Given the description of an element on the screen output the (x, y) to click on. 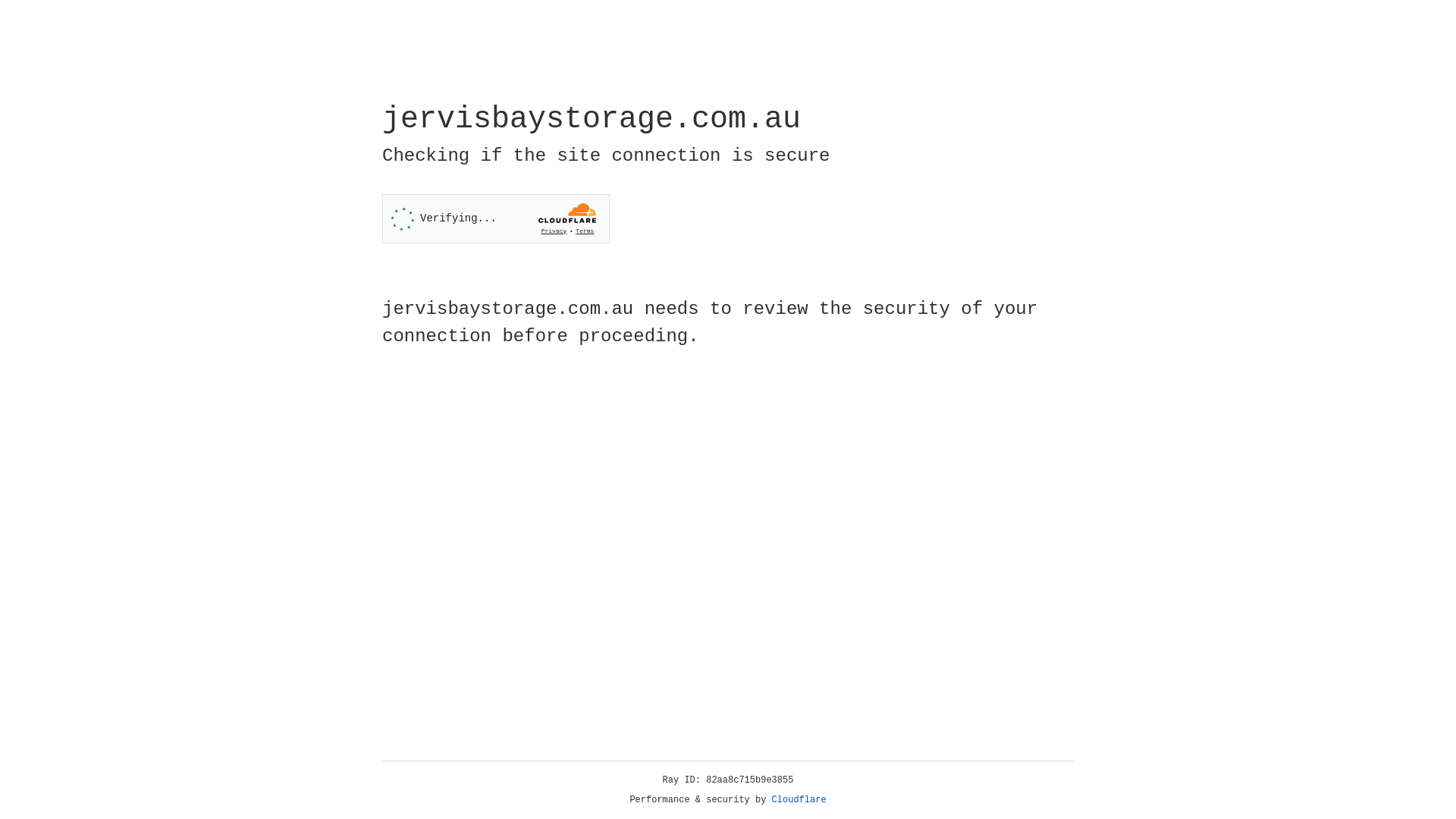
Cloudflare Element type: text (798, 799)
Widget containing a Cloudflare security challenge Element type: hover (495, 218)
